Given the description of an element on the screen output the (x, y) to click on. 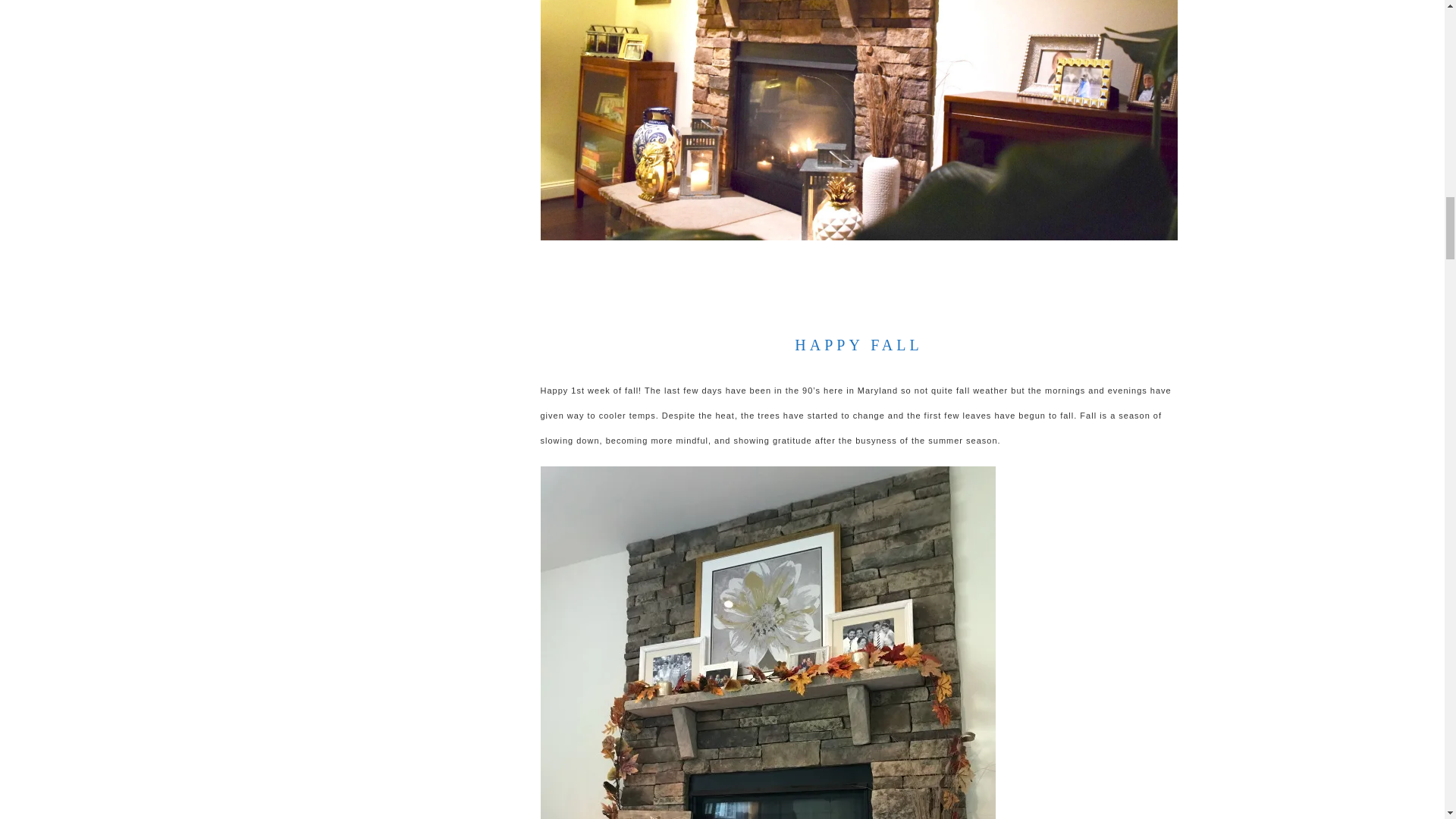
HAPPY FALL (857, 344)
